Given the description of an element on the screen output the (x, y) to click on. 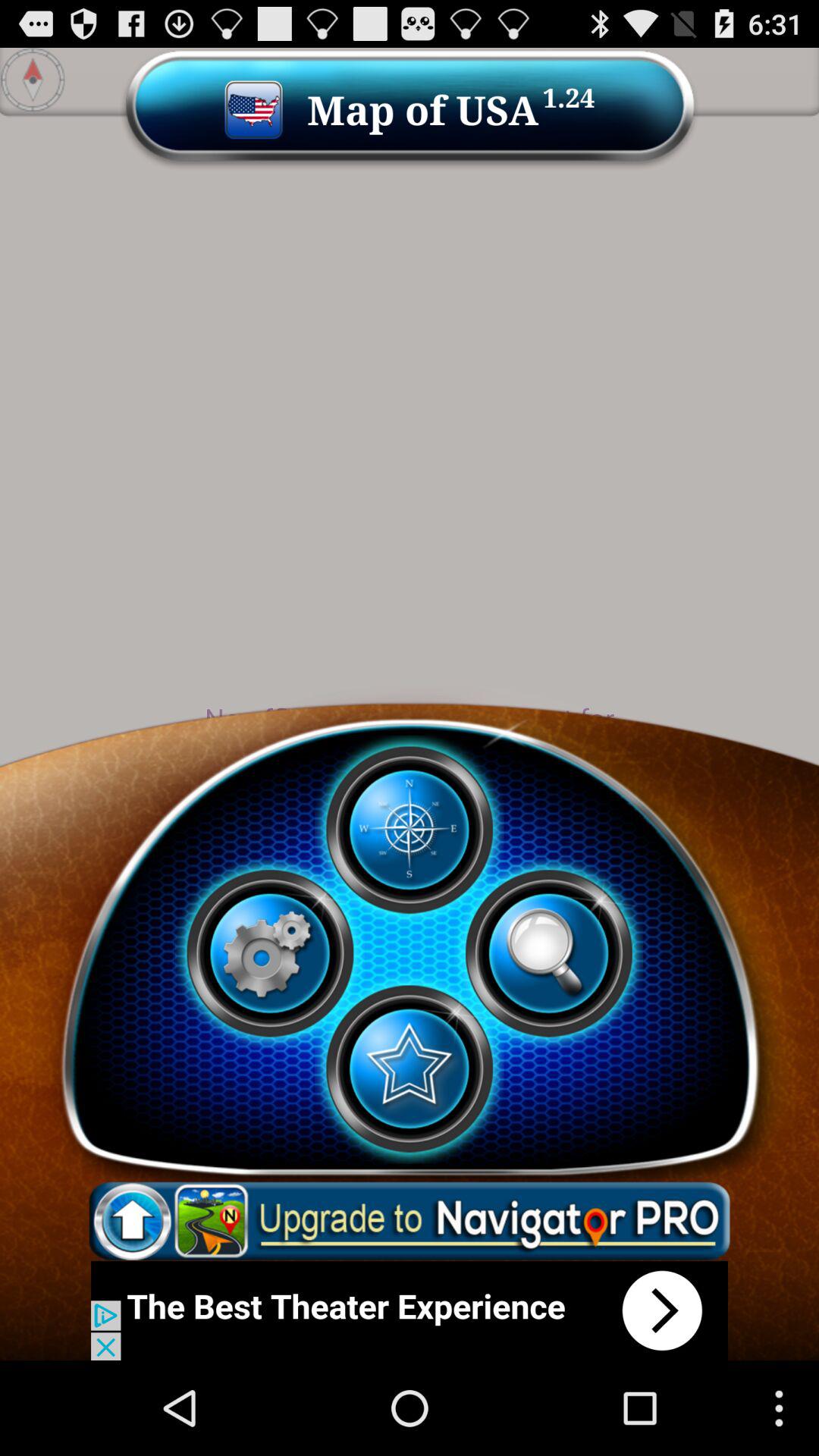
settings (269, 953)
